Given the description of an element on the screen output the (x, y) to click on. 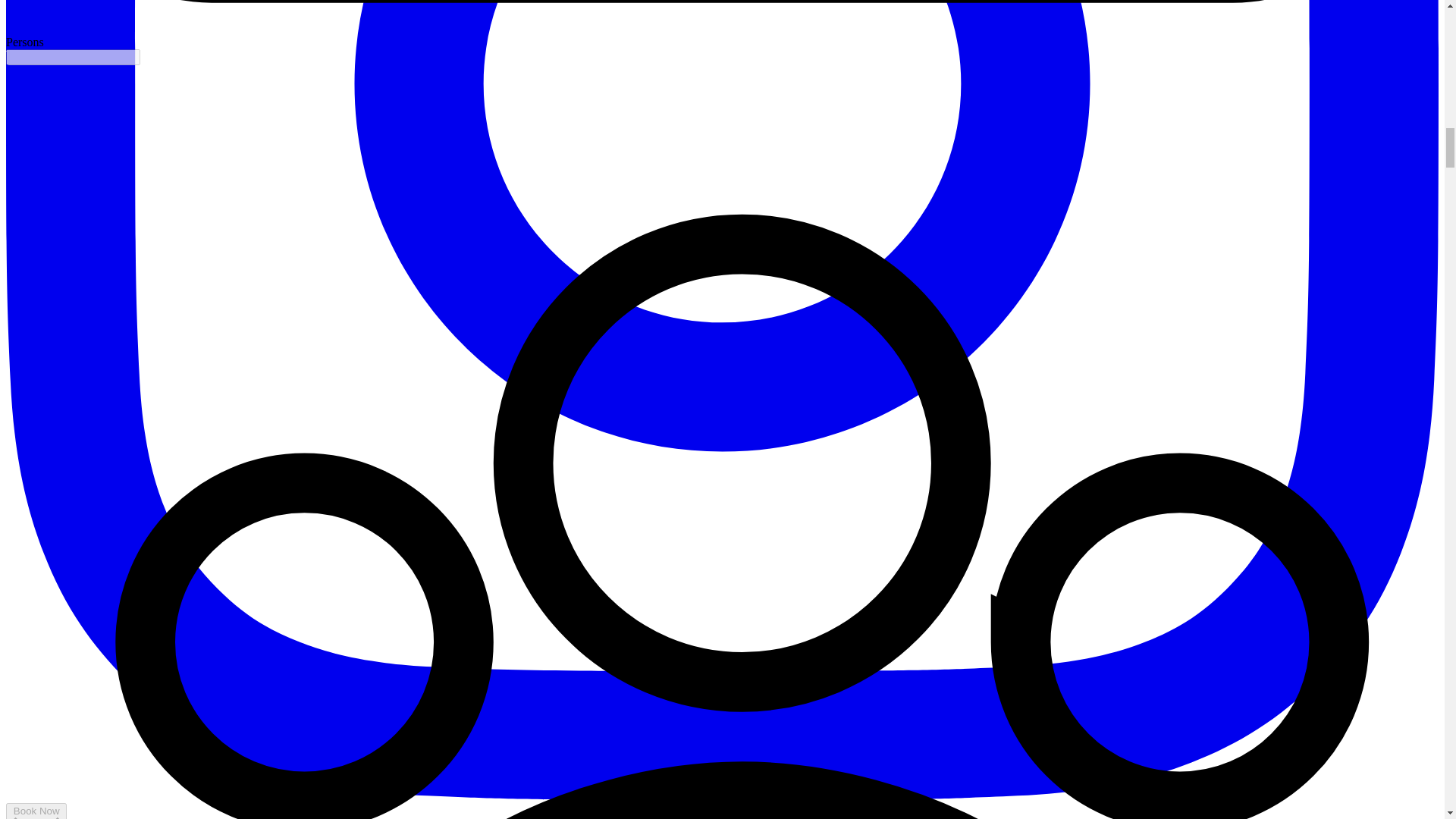
Book Now (35, 810)
